Given the description of an element on the screen output the (x, y) to click on. 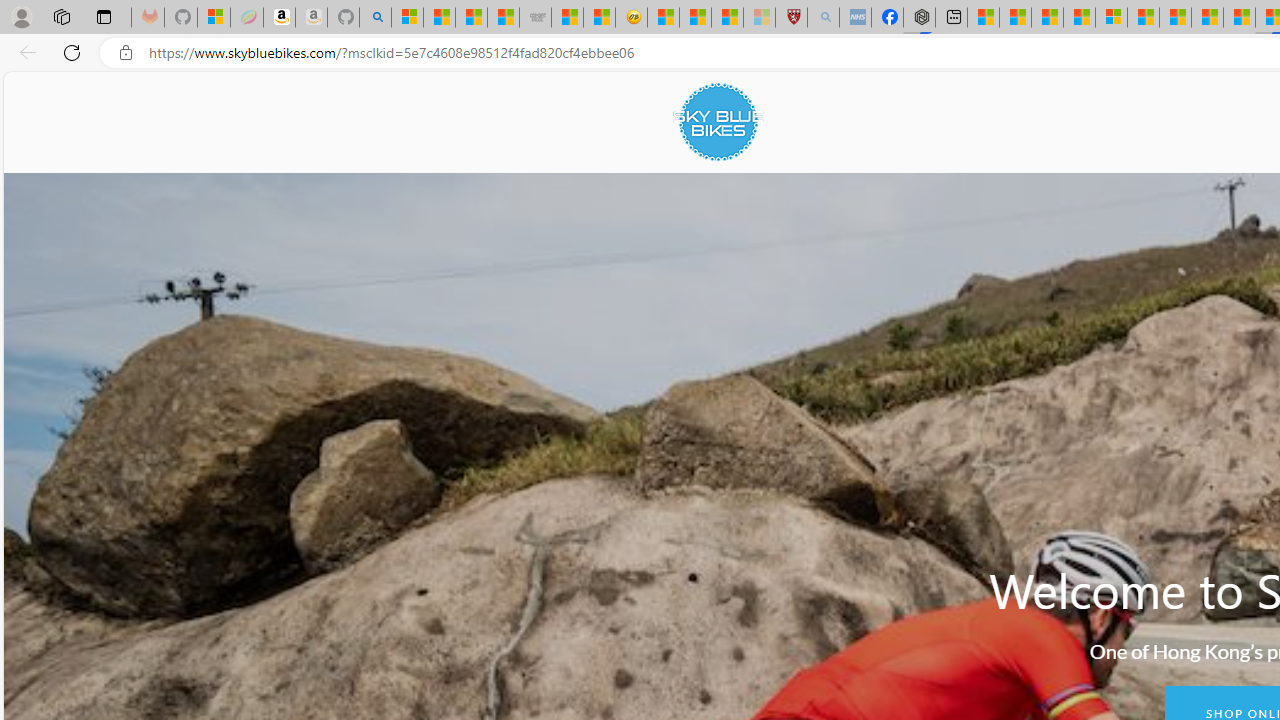
Stocks - MSN (502, 17)
Class: uk-navbar-item uk-logo (717, 122)
MSNBC - MSN (471, 17)
Microsoft account | Privacy (1111, 17)
12 Popular Science Lies that Must be Corrected - Sleeping (758, 17)
